Given the description of an element on the screen output the (x, y) to click on. 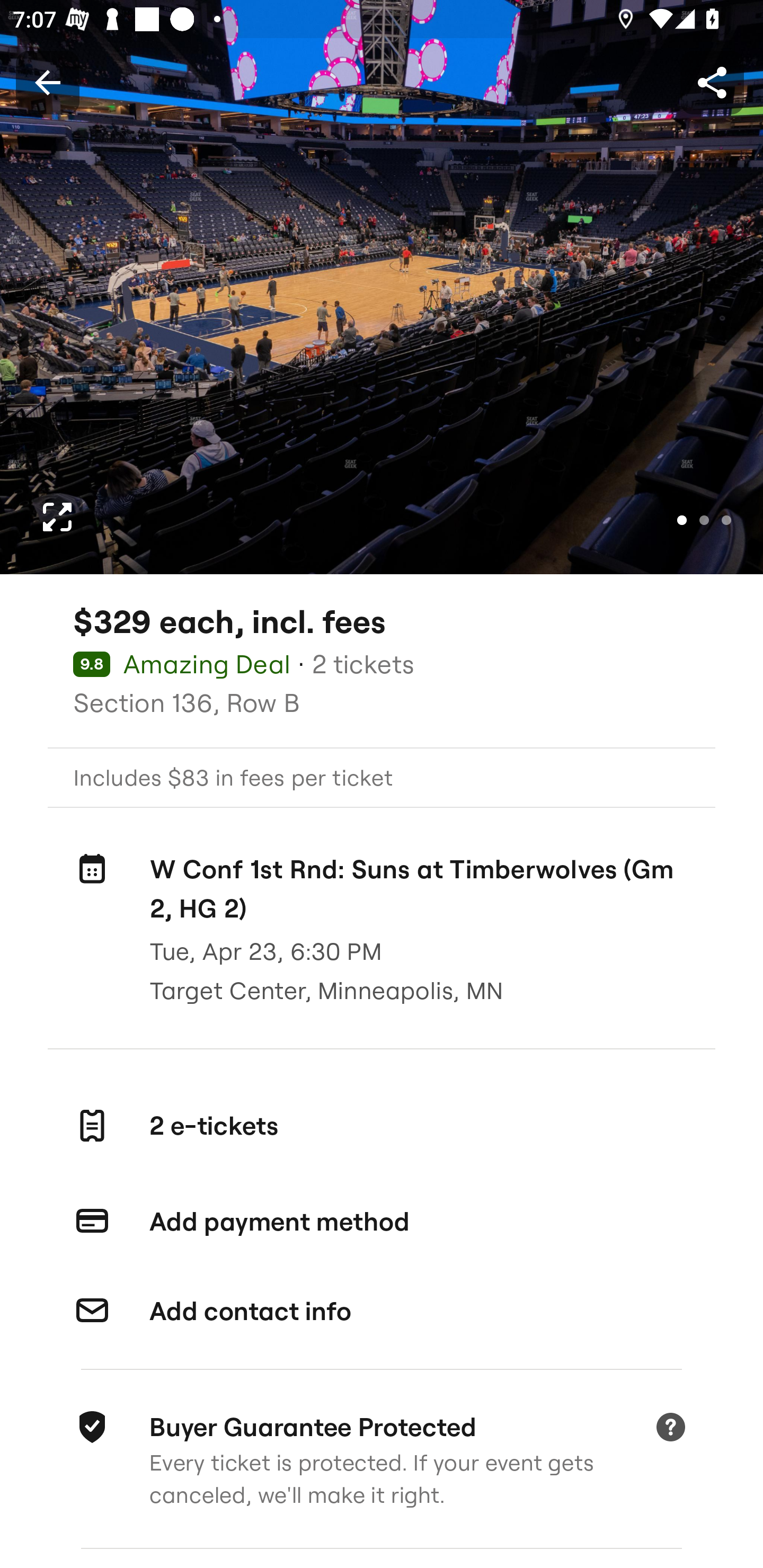
Back (47, 81)
Share (711, 81)
Expand image to fullscreen (57, 517)
2 e-tickets (381, 1125)
Add payment method (381, 1221)
Add contact info (381, 1311)
